Given the description of an element on the screen output the (x, y) to click on. 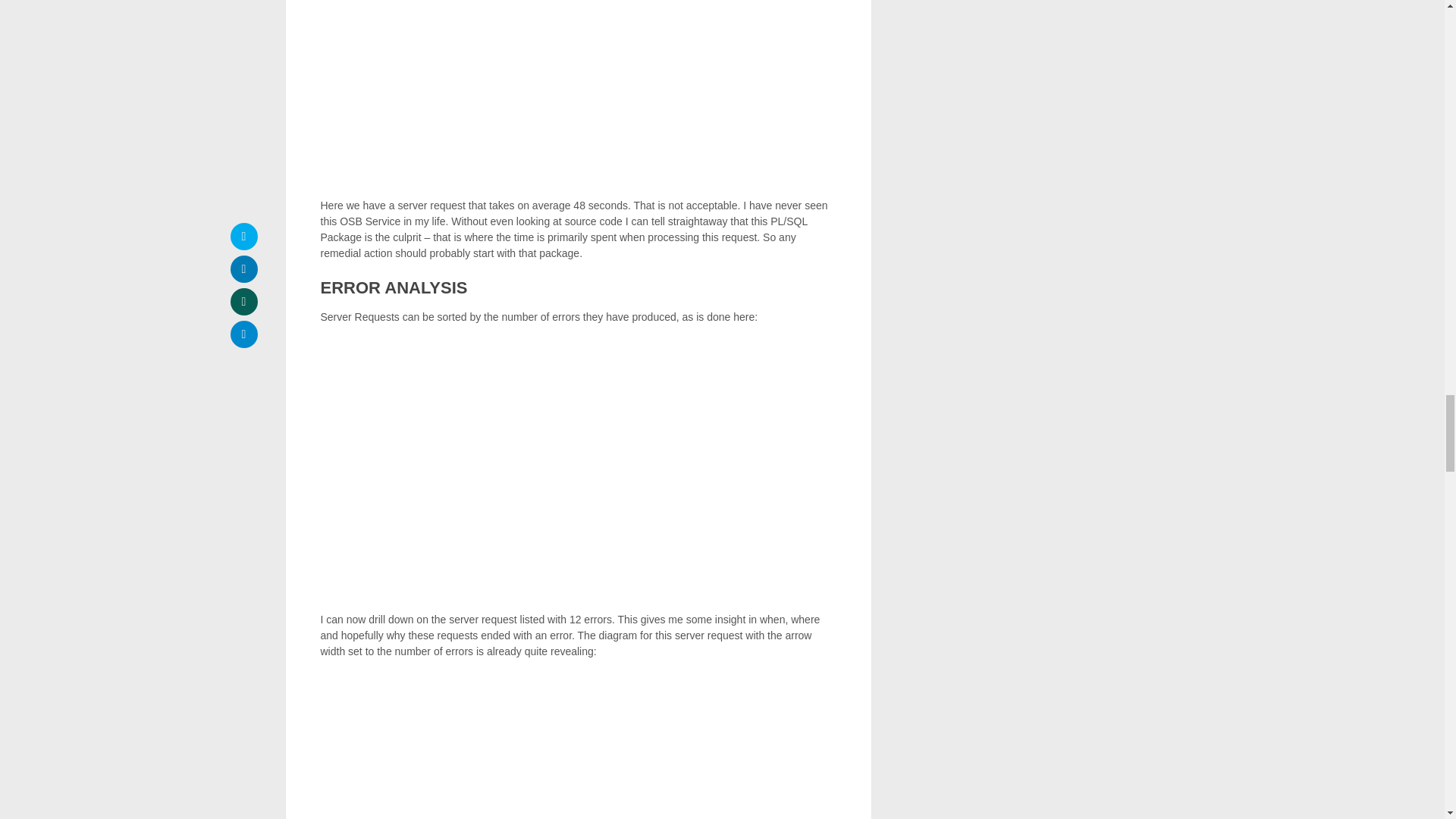
image (578, 746)
image (577, 468)
image (577, 91)
